Given the description of an element on the screen output the (x, y) to click on. 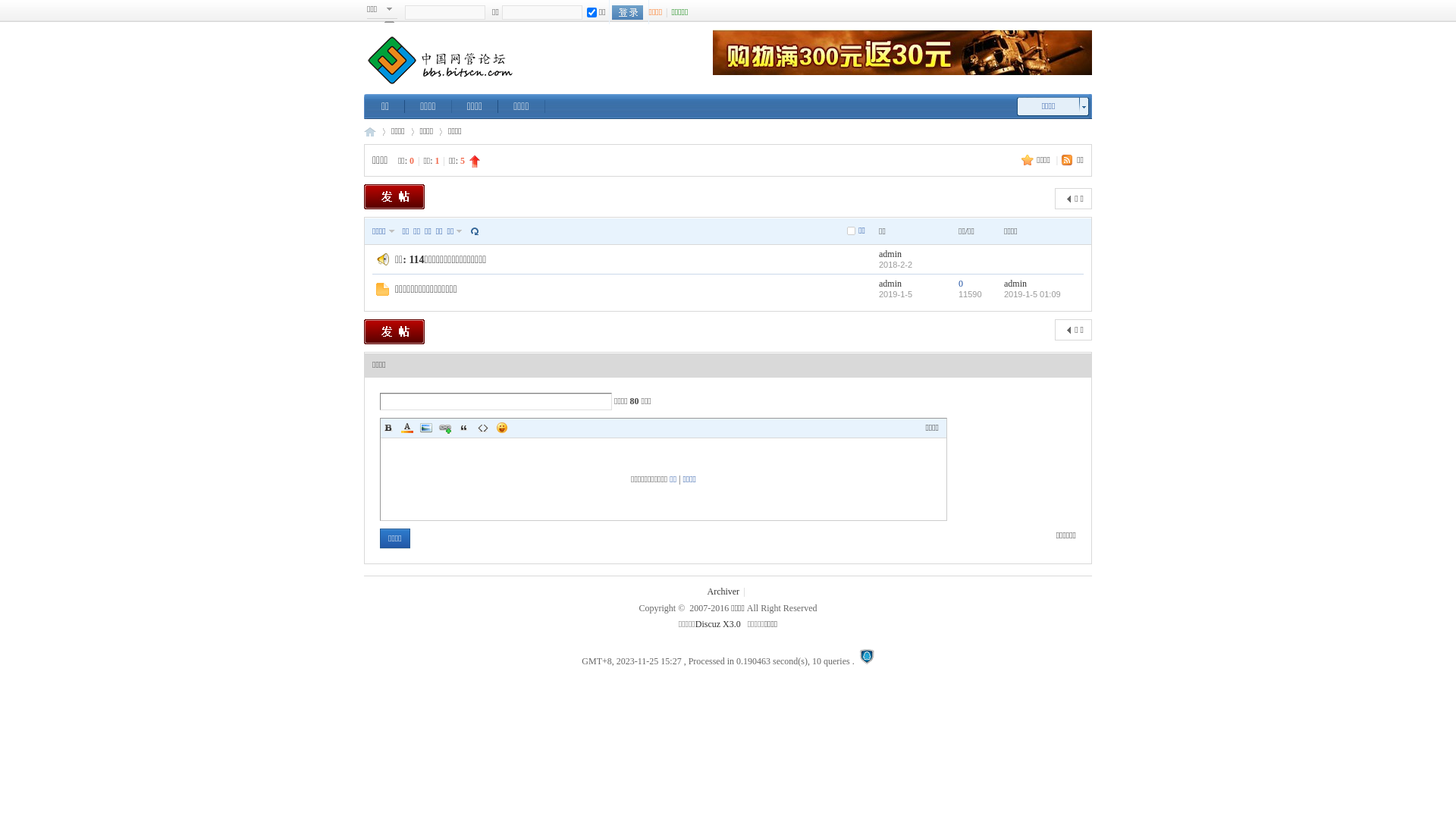
admin Element type: text (1015, 283)
2019-1-5 01:09 Element type: text (1032, 293)
admin Element type: text (889, 283)
0 Element type: text (960, 283)
Quote Element type: text (463, 427)
Archiver Element type: text (722, 591)
   Element type: text (627, 12)
B Element type: text (387, 427)
Code Element type: text (482, 427)
admin Element type: text (889, 253)
Discuz X3.0 Element type: text (717, 623)
Link Element type: text (444, 427)
Image Element type: text (425, 427)
Color Element type: text (406, 427)
Smilies Element type: text (501, 427)
